Given the description of an element on the screen output the (x, y) to click on. 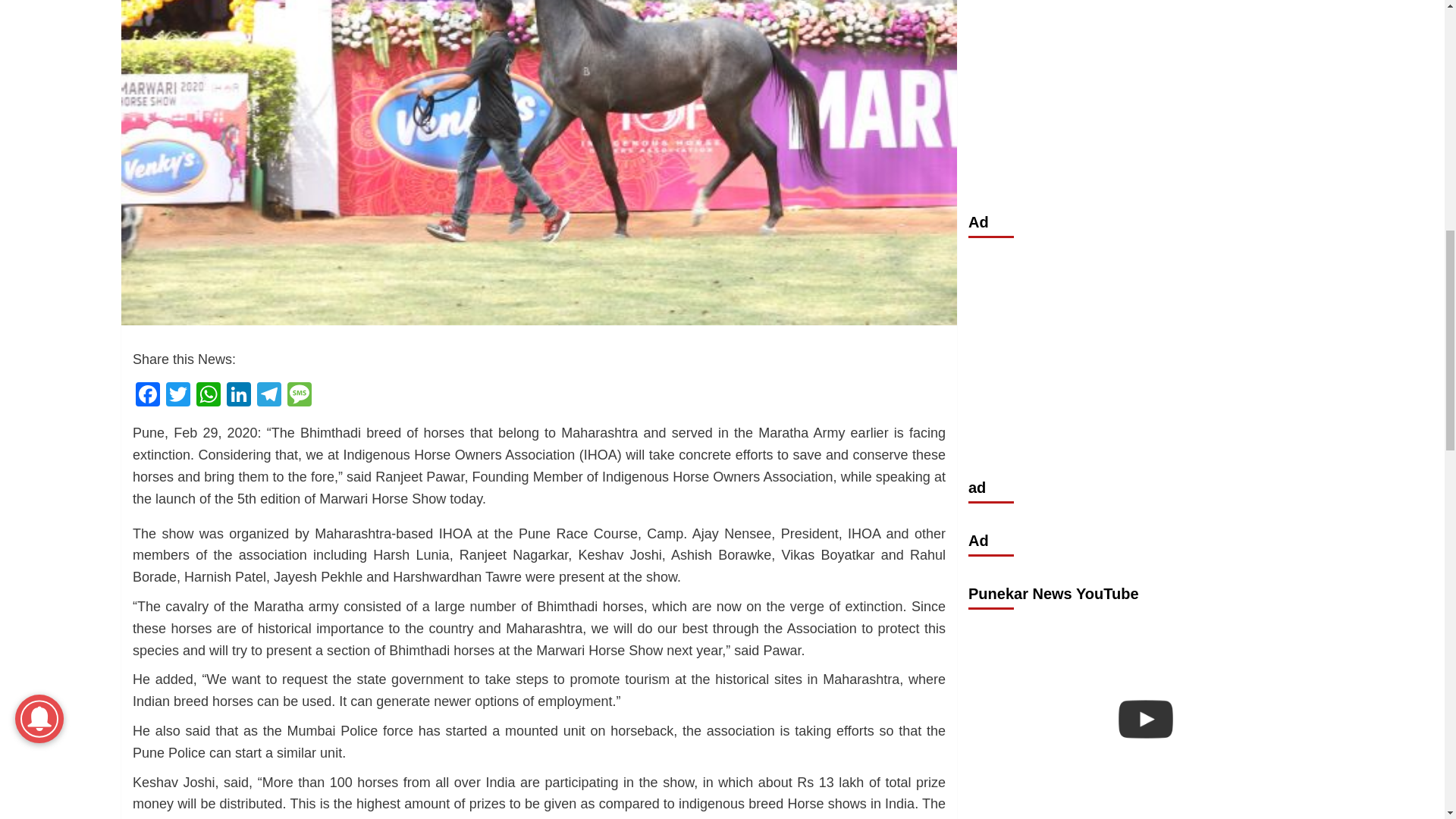
WhatsApp (208, 396)
Twitter (178, 396)
Facebook (147, 396)
WhatsApp (208, 396)
Twitter (178, 396)
LinkedIn (238, 396)
Message (298, 396)
Advertisement (1145, 78)
LinkedIn (238, 396)
Telegram (268, 396)
Facebook (147, 396)
Telegram (268, 396)
